Given the description of an element on the screen output the (x, y) to click on. 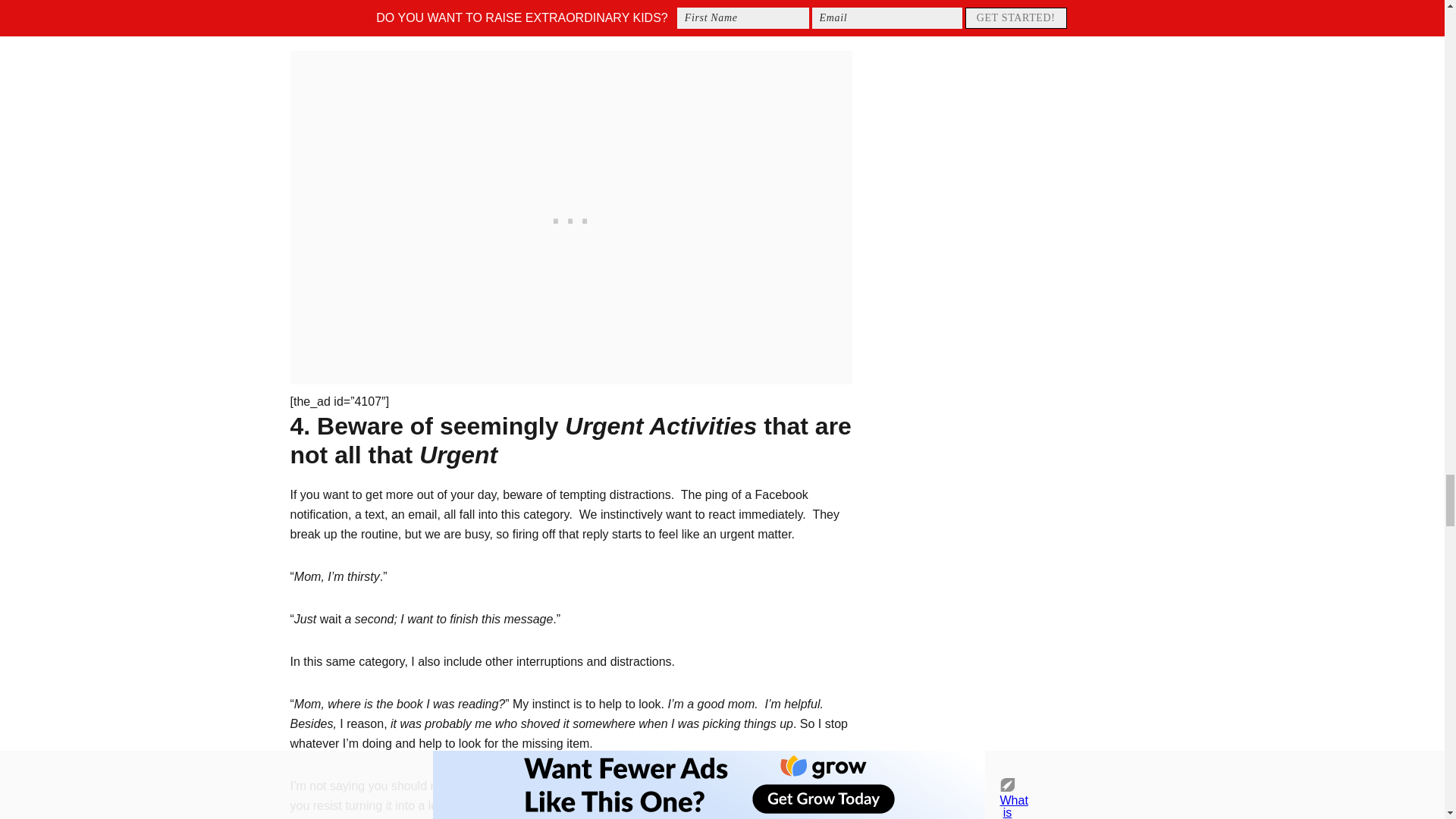
moms teach (590, 805)
